Given the description of an element on the screen output the (x, y) to click on. 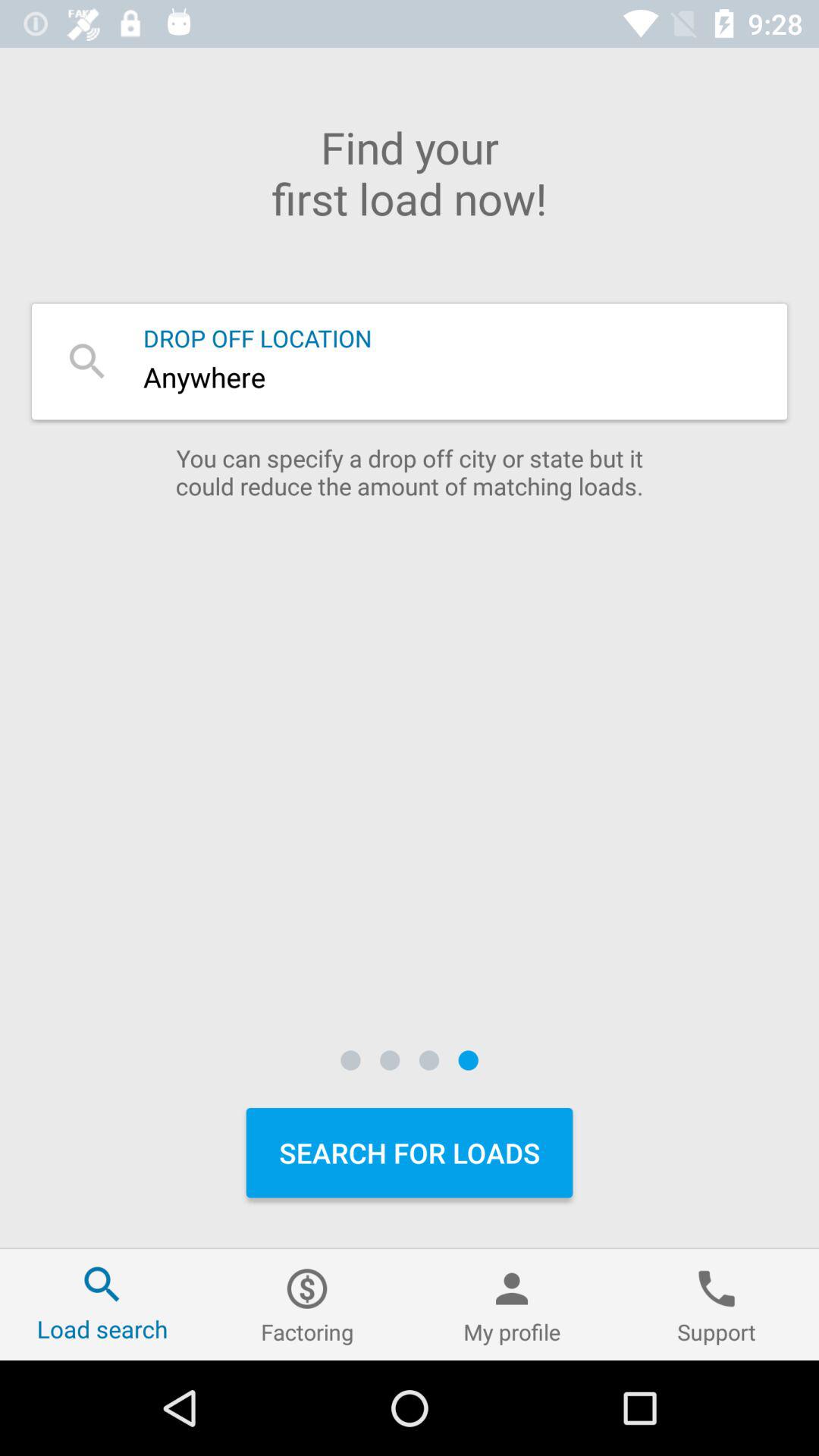
press the item to the right of the my profile item (716, 1304)
